Given the description of an element on the screen output the (x, y) to click on. 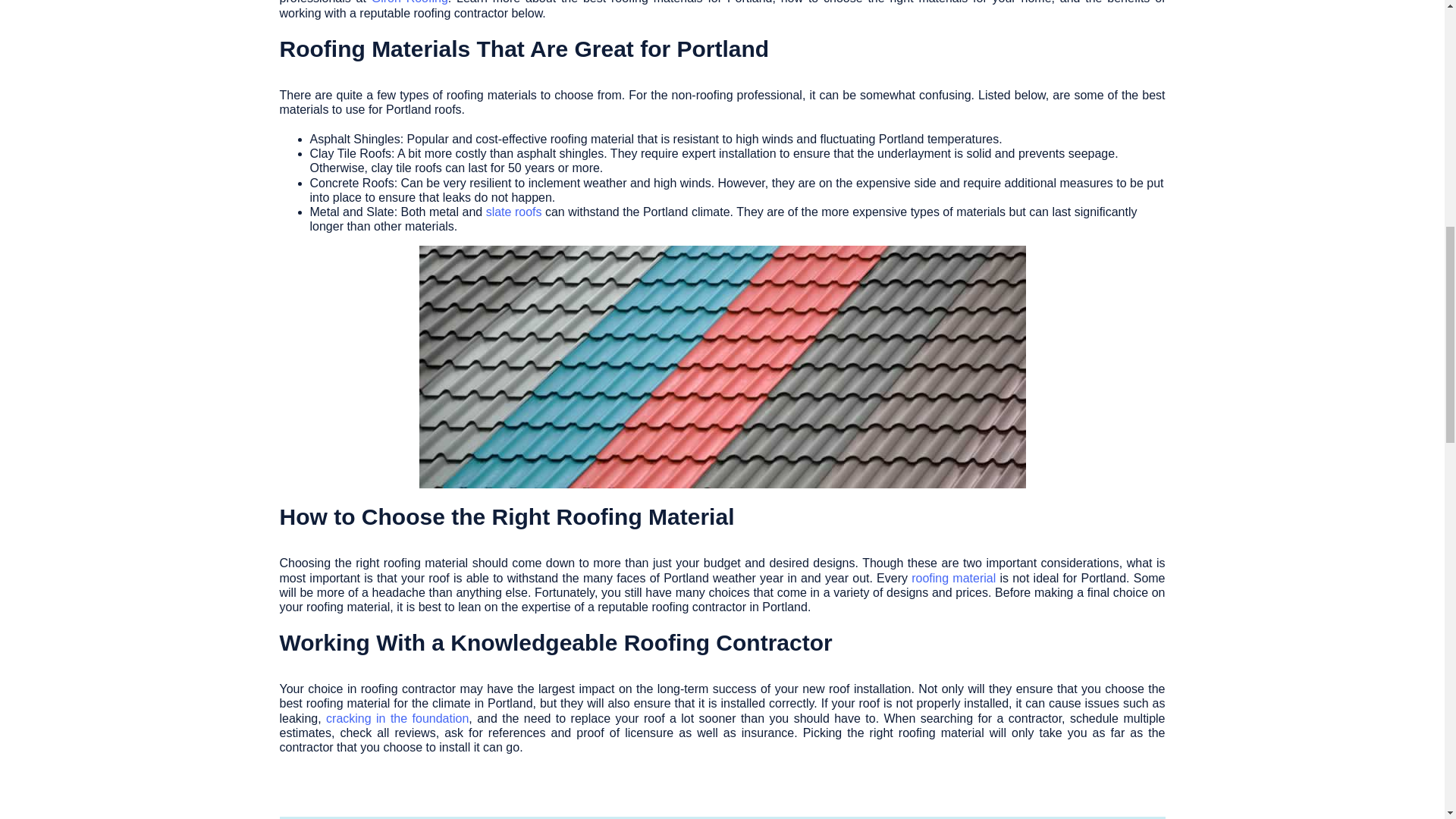
roofing material (953, 577)
slate roofs (513, 211)
Giron Roofing (409, 2)
cracking in the foundation (397, 717)
